Given the description of an element on the screen output the (x, y) to click on. 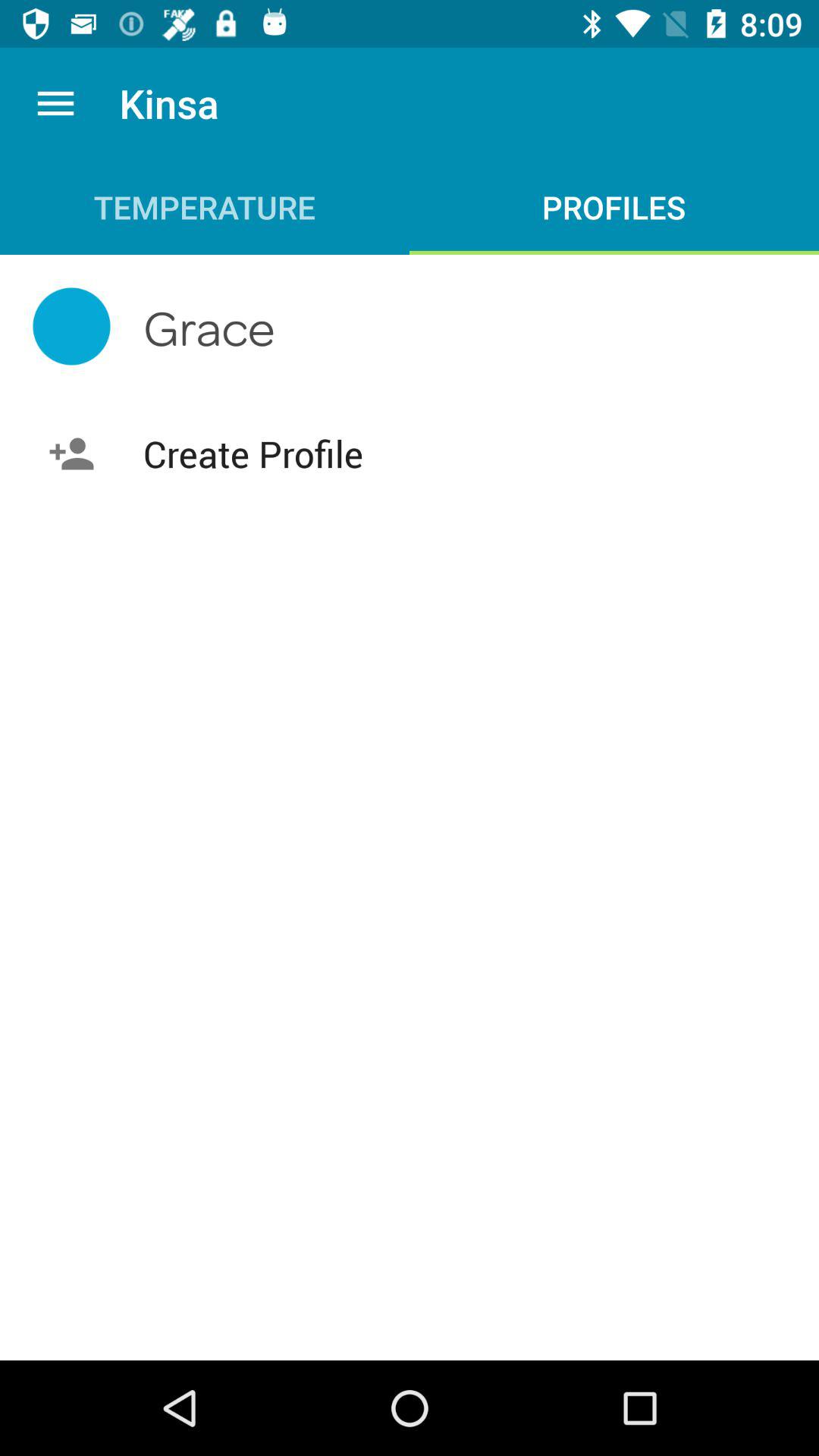
select the create profile (409, 453)
